Given the description of an element on the screen output the (x, y) to click on. 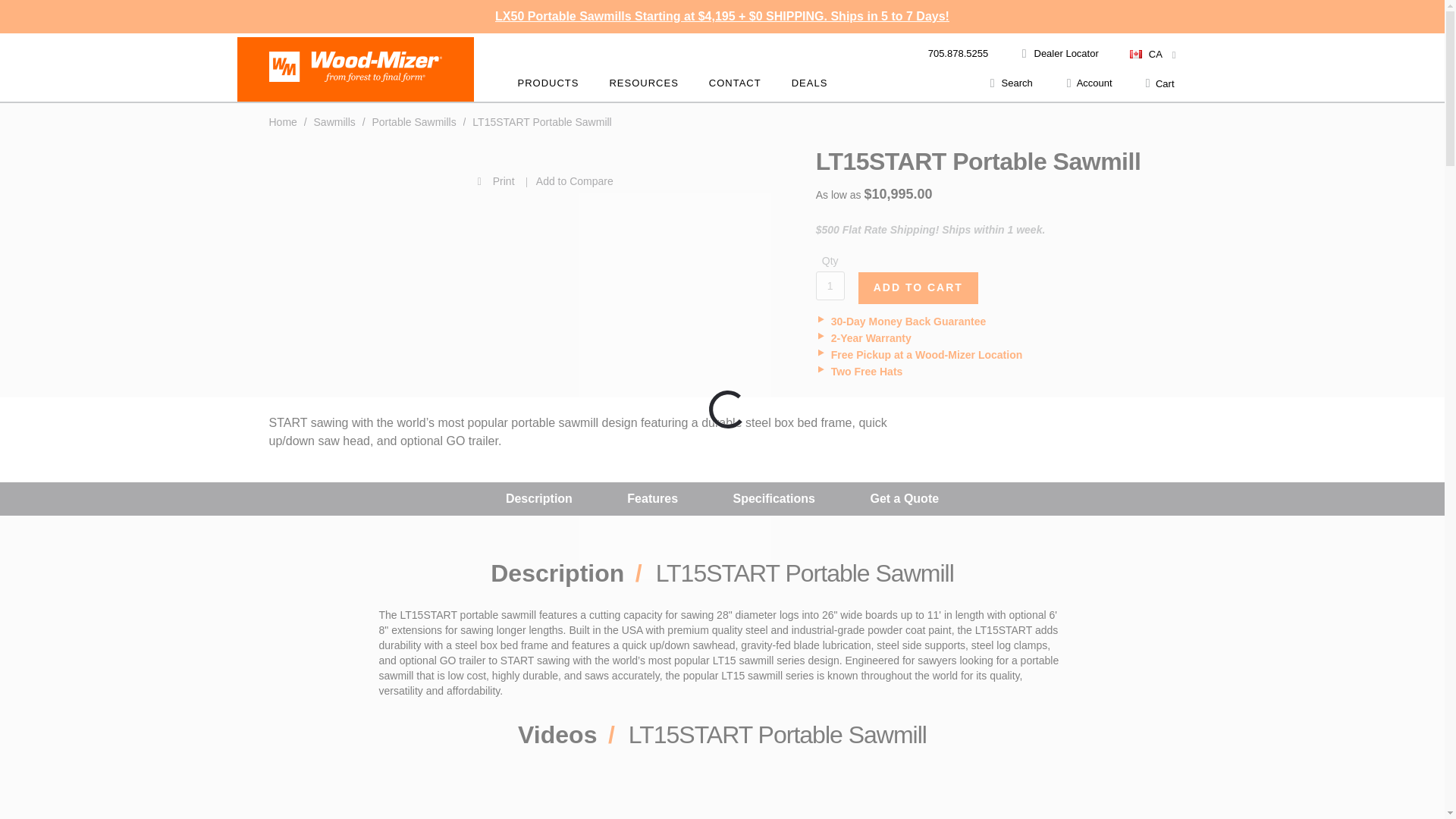
Go to Home Page (283, 121)
Qty (829, 285)
1 (829, 285)
Print (394, 181)
Add to Cart (918, 287)
